Given the description of an element on the screen output the (x, y) to click on. 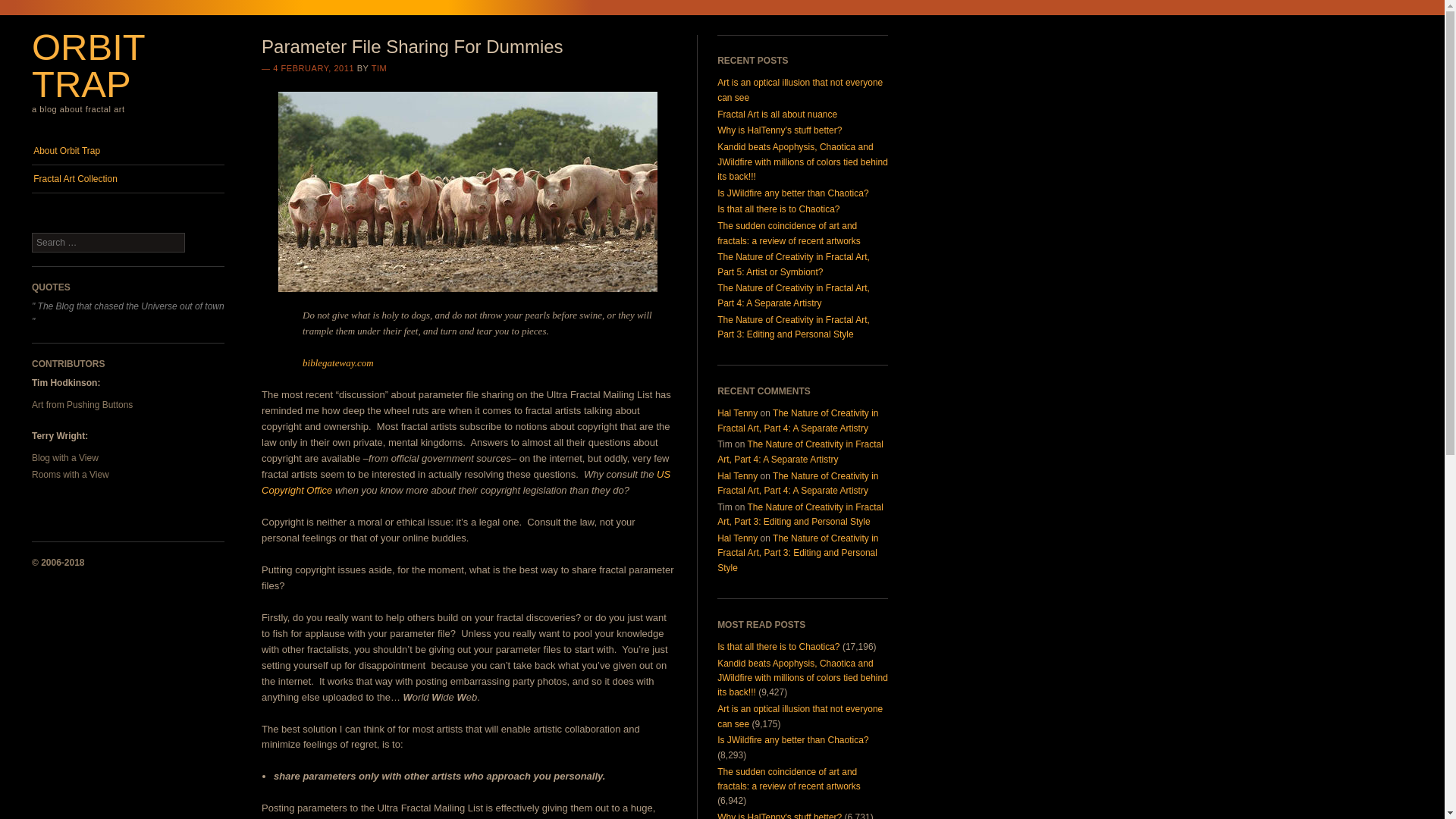
Rooms with a View (70, 474)
Art is an optical illusion that not everyone can see (799, 715)
4 FEBRUARY, 2011 (313, 67)
Fractal Art Collection (128, 178)
Orbit Trap (88, 65)
US Copyright Office (465, 482)
Why is HalTenny's stuff better? (779, 815)
About Orbit Trap (128, 150)
Is JWildfire any better than Chaotica? (792, 739)
Art is an optical illusion that not everyone can see (799, 715)
TIM (379, 67)
